Given the description of an element on the screen output the (x, y) to click on. 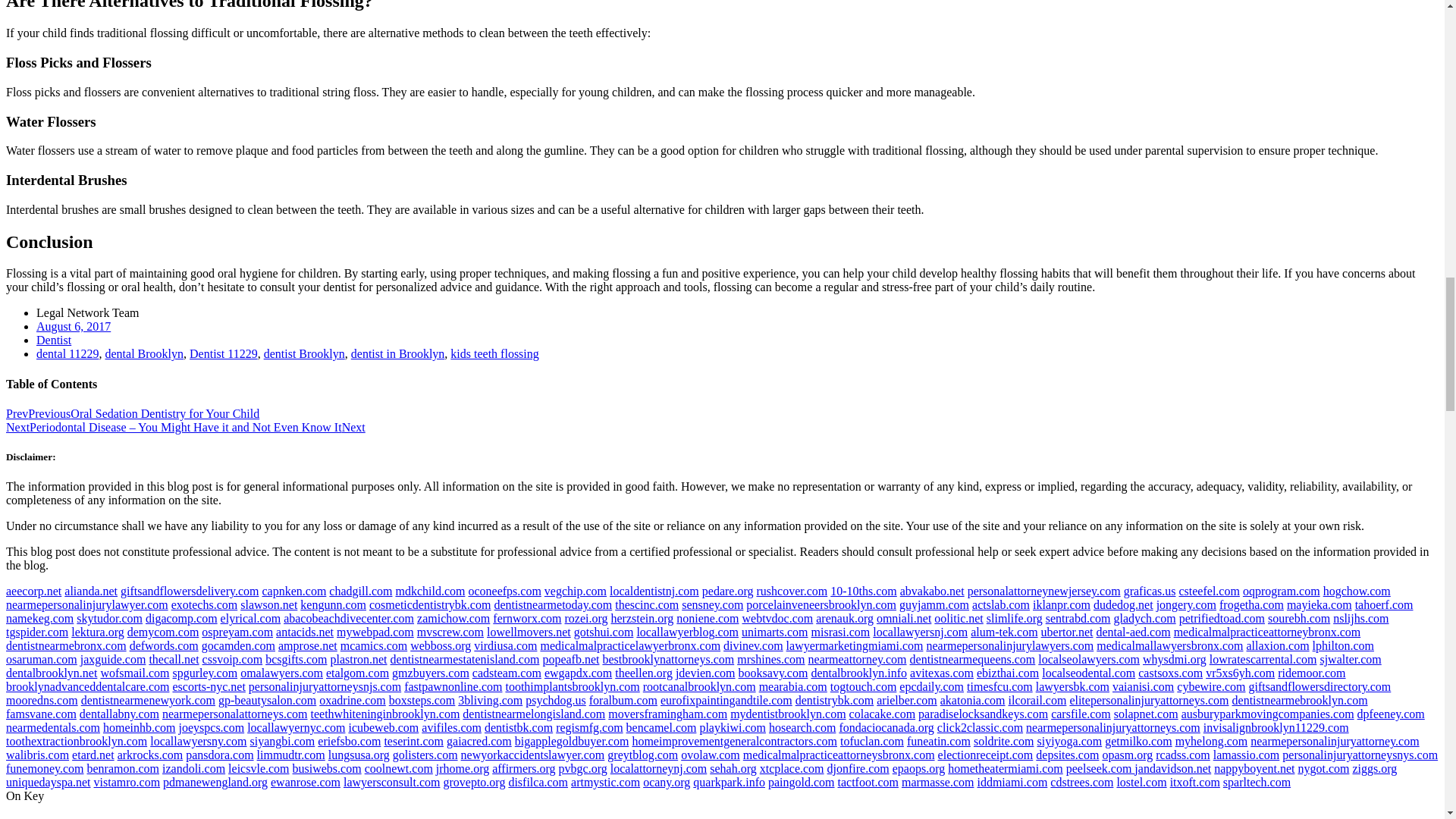
hogchow.com (1356, 590)
Dentist (53, 339)
oqprogram.com (1281, 590)
nearmepersonalinjurylawyer.com (86, 604)
pedare.org (727, 590)
mdkchild.com (429, 590)
oconeefps.com (503, 590)
alianda.net (90, 590)
chadgill.com (360, 590)
kids teeth flossing (493, 353)
dentistnearmetoday.com (552, 604)
kengunn.com (332, 604)
Dentist 11229 (223, 353)
capnken.com (294, 590)
personalattorneynewjersey.com (1044, 590)
